Given the description of an element on the screen output the (x, y) to click on. 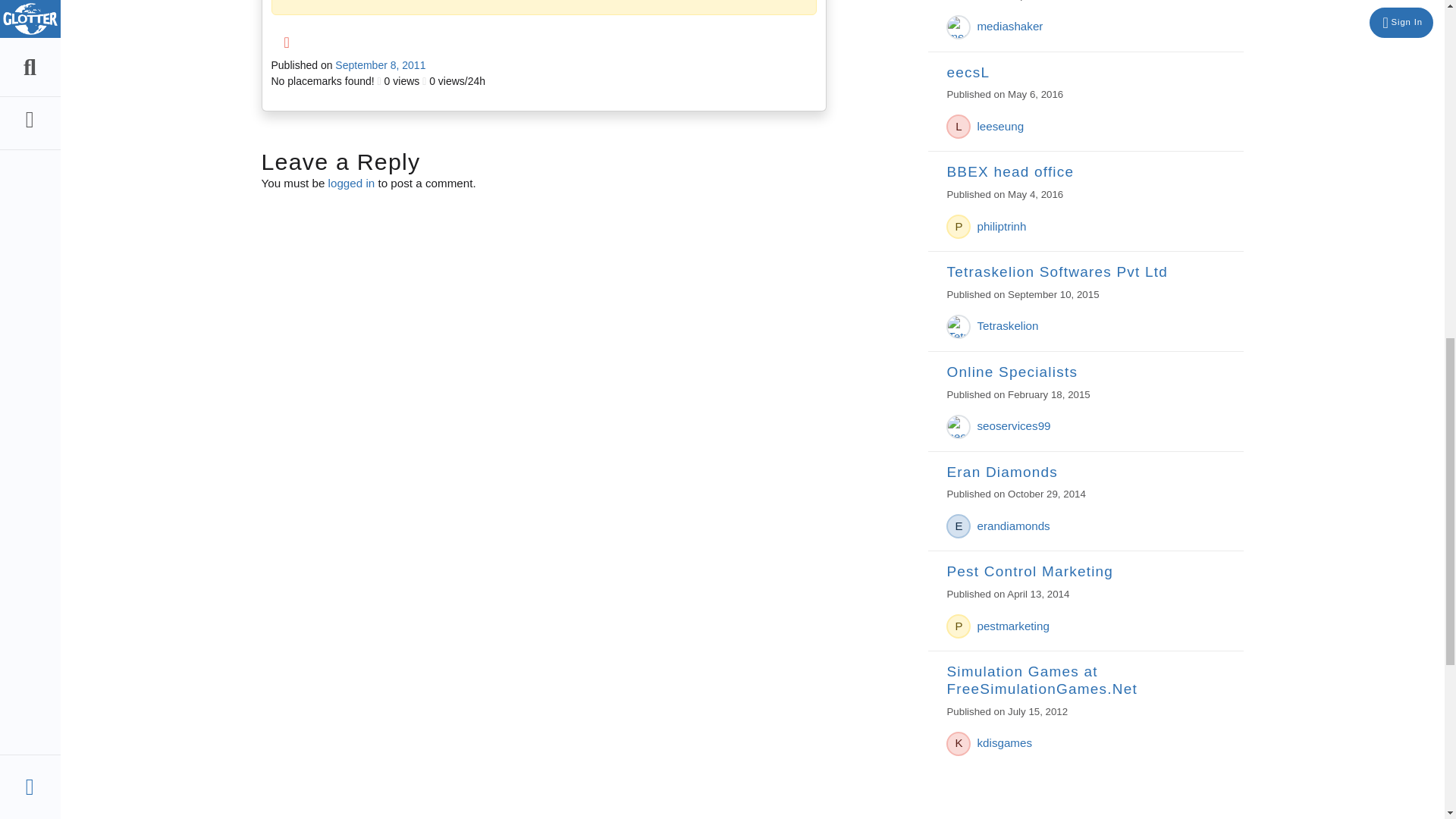
logged in (352, 182)
September 8, 2011 (379, 64)
Log in to Report (286, 42)
September 8, 2011 (379, 64)
